Given the description of an element on the screen output the (x, y) to click on. 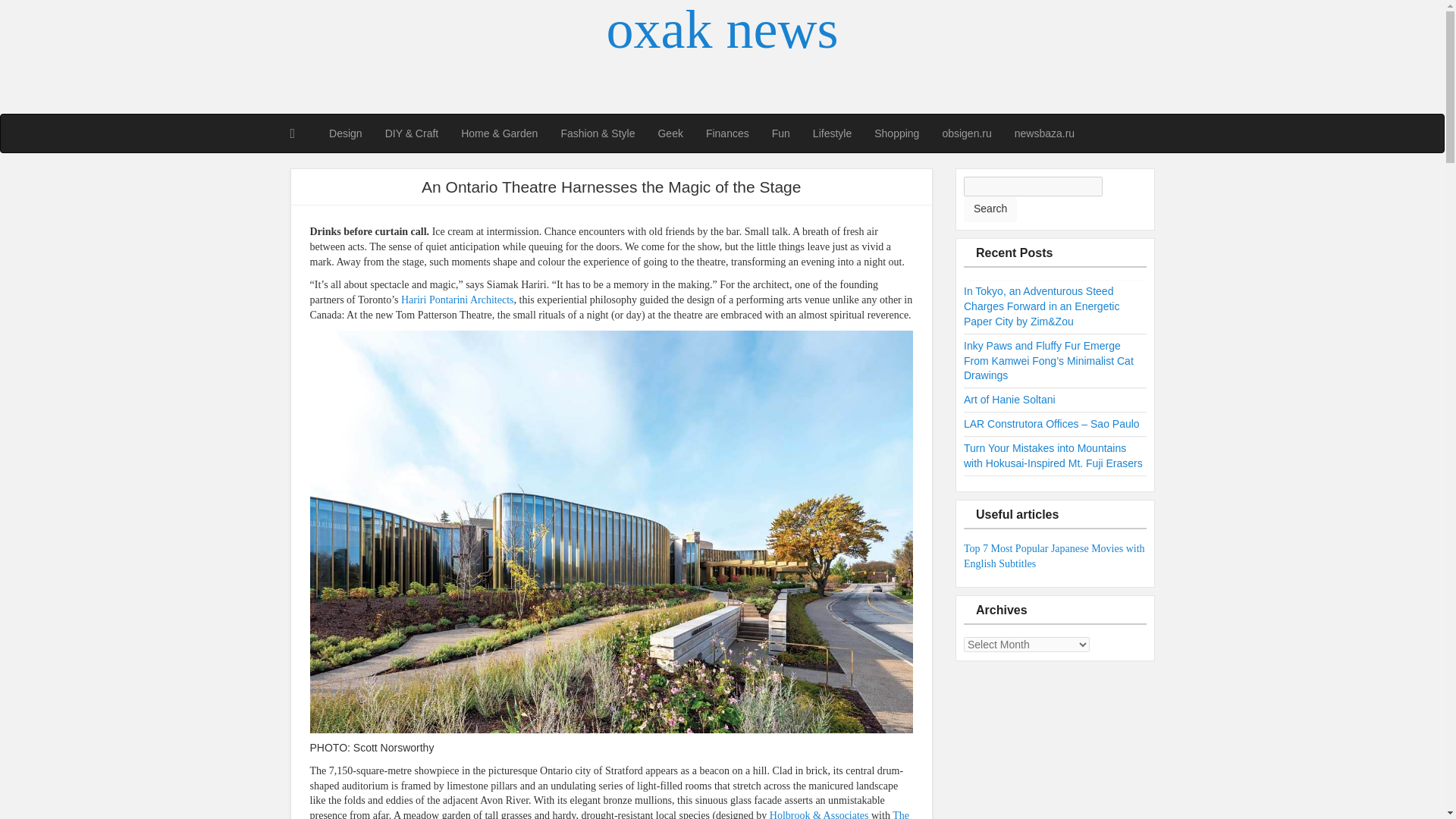
newsbaza.ru (1044, 133)
Lifestyle (832, 133)
obsigen.ru (966, 133)
Geek (670, 133)
Search (989, 208)
Shopping (896, 133)
Art of Hanie Soltani (1009, 399)
Design (345, 133)
Design (345, 133)
newsbaza.ru (1044, 133)
Shopping (896, 133)
Hariri Pontarini Architects (457, 299)
Search (989, 208)
Finances (727, 133)
